Given the description of an element on the screen output the (x, y) to click on. 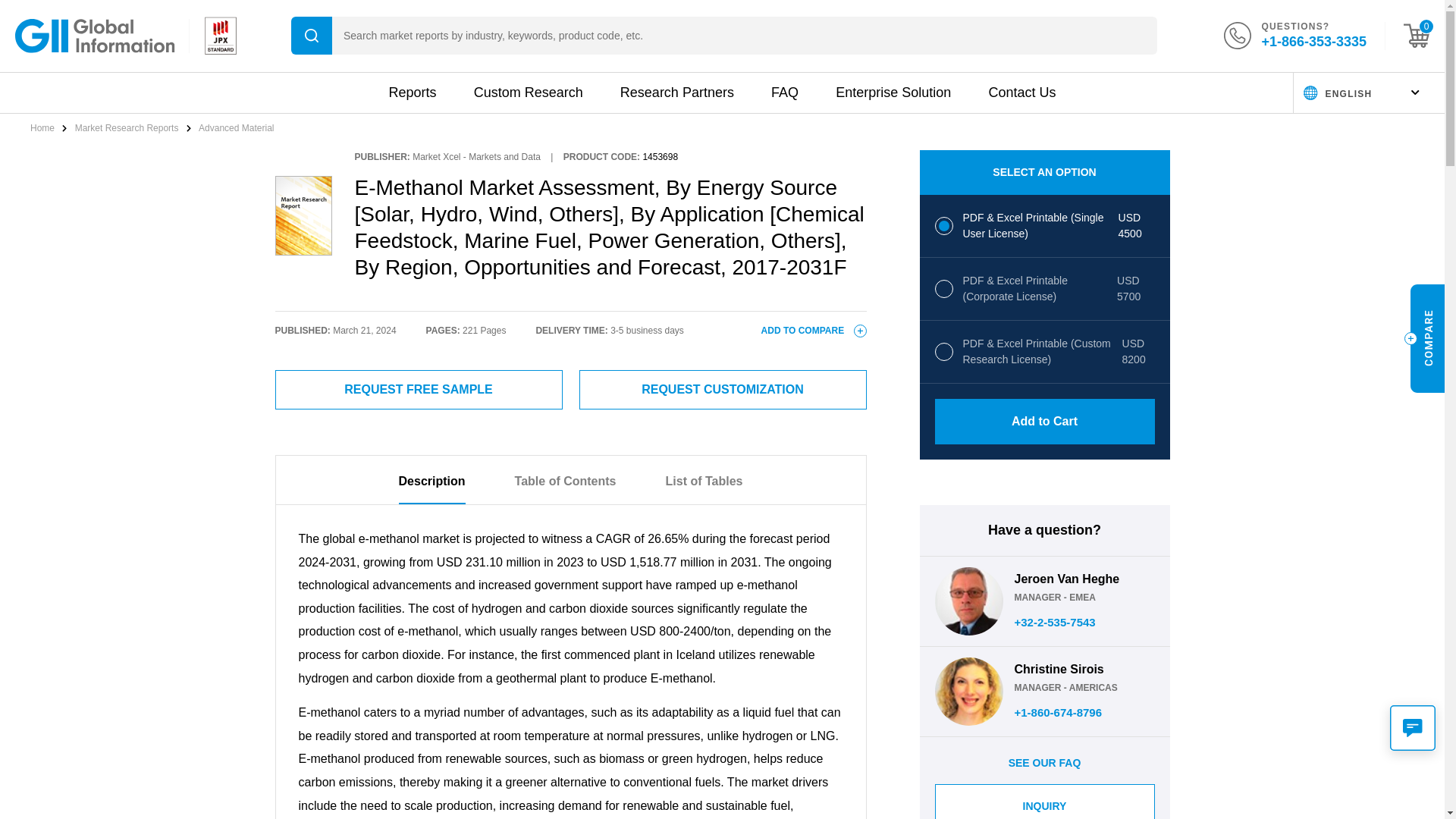
REQUEST FREE SAMPLE (418, 389)
FAQ (784, 92)
Table of Contents (565, 489)
Custom Research (528, 92)
Enterprise Solution (892, 92)
List of Tables (703, 489)
ADD TO COMPARE (813, 330)
Advanced Material (235, 127)
Research Partners (676, 92)
Home (43, 127)
